Given the description of an element on the screen output the (x, y) to click on. 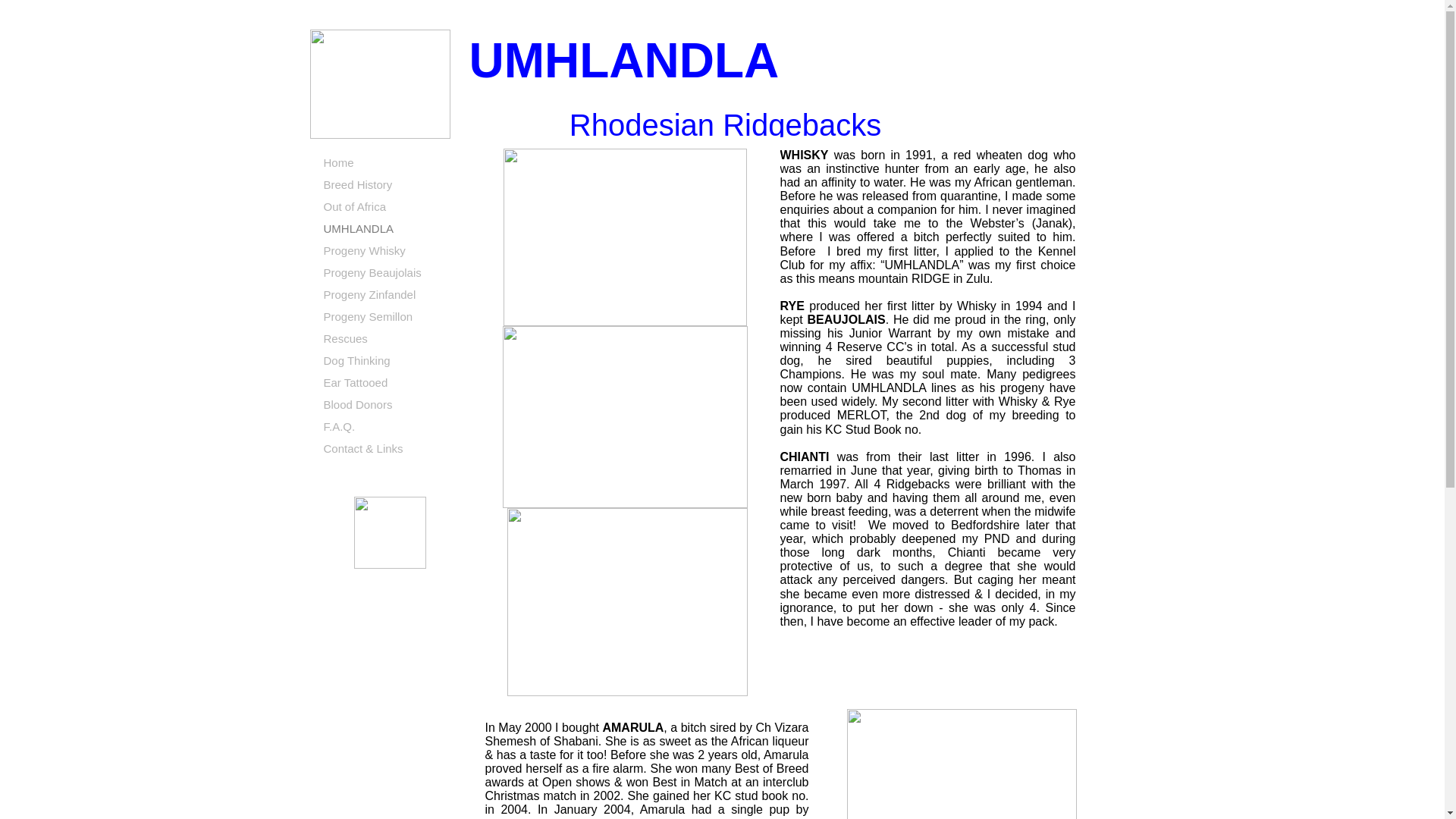
Breed History (389, 185)
Blood Donors (389, 404)
Ear Tattooed (389, 382)
Home (389, 163)
Out of Africa (389, 207)
Progeny Semillon (389, 317)
Progeny Whisky (389, 251)
UMHLANDLA (389, 229)
Dog Thinking (389, 361)
Rescues (389, 339)
Progeny Zinfandel (389, 295)
Progeny Beaujolais (389, 273)
F.A.Q. (389, 427)
